Given the description of an element on the screen output the (x, y) to click on. 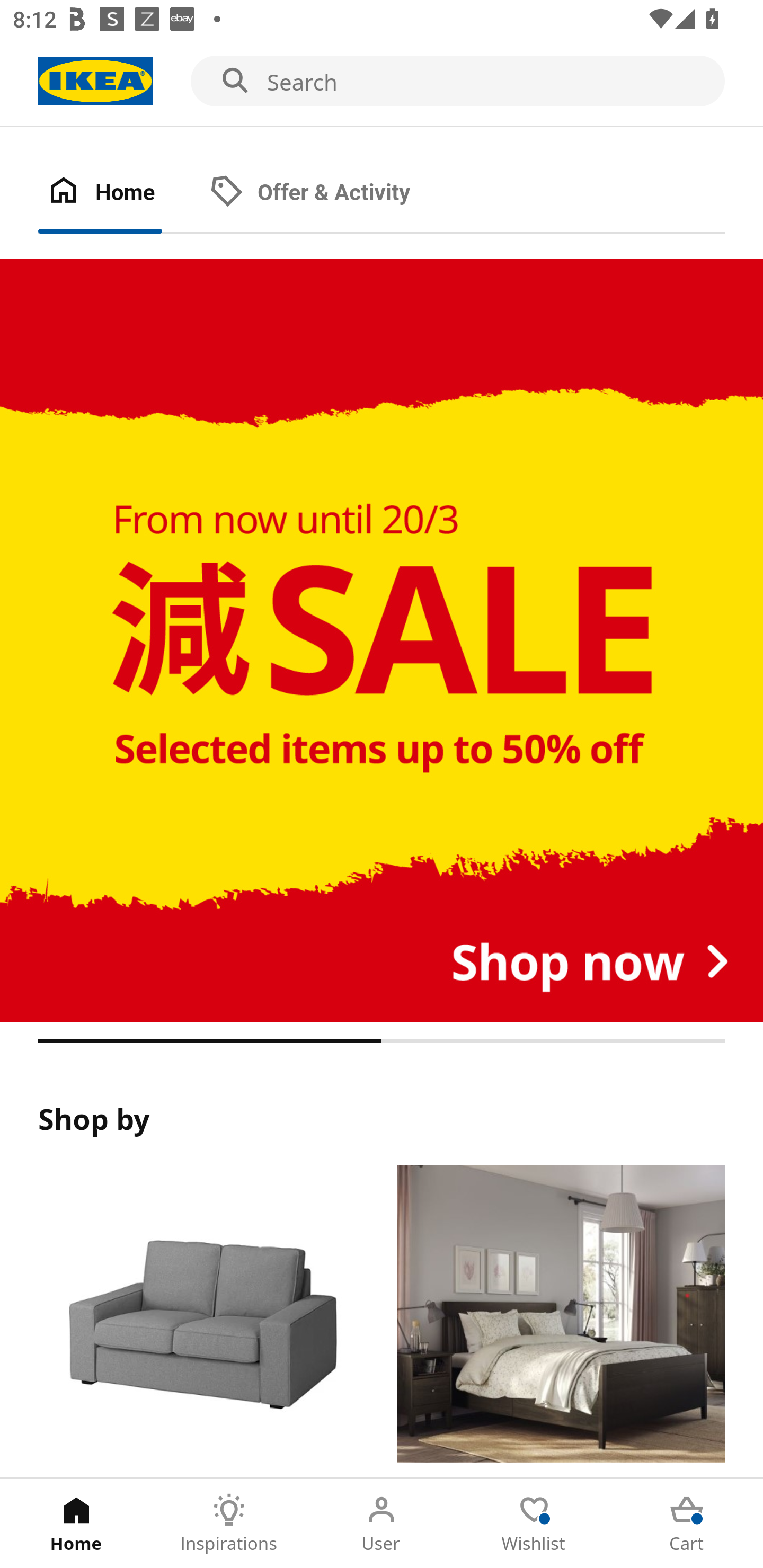
Search (381, 81)
Home
Tab 1 of 2 (118, 192)
Offer & Activity
Tab 2 of 2 (327, 192)
Products (201, 1321)
Rooms (560, 1321)
Home
Tab 1 of 5 (76, 1522)
Inspirations
Tab 2 of 5 (228, 1522)
User
Tab 3 of 5 (381, 1522)
Wishlist
Tab 4 of 5 (533, 1522)
Cart
Tab 5 of 5 (686, 1522)
